Given the description of an element on the screen output the (x, y) to click on. 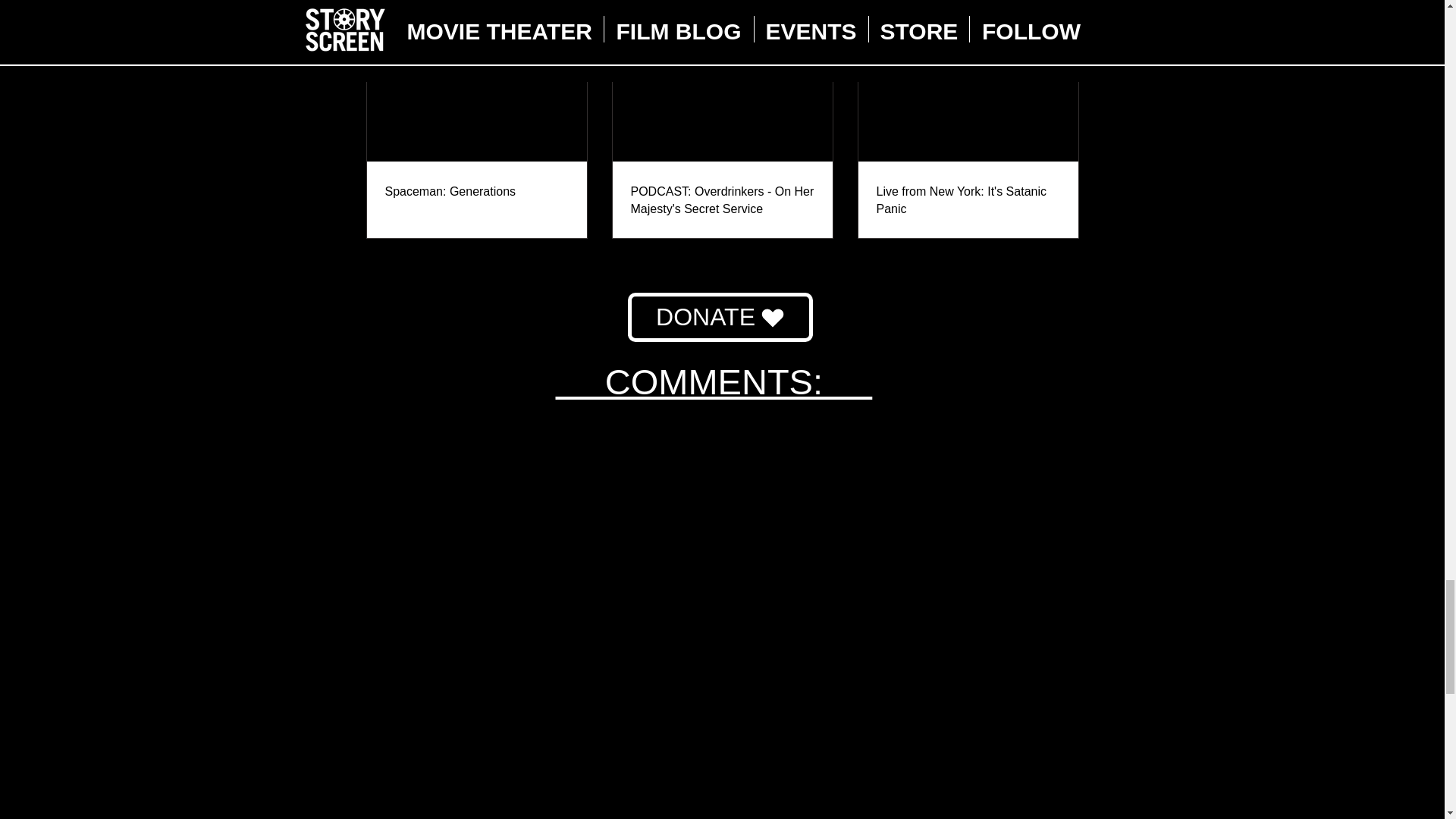
DONATE (719, 317)
Live from New York: It's Satanic Panic (967, 200)
PODCAST: Overdrinkers - On Her Majesty's Secret Service (721, 200)
Spaceman: Generations (477, 191)
